Given the description of an element on the screen output the (x, y) to click on. 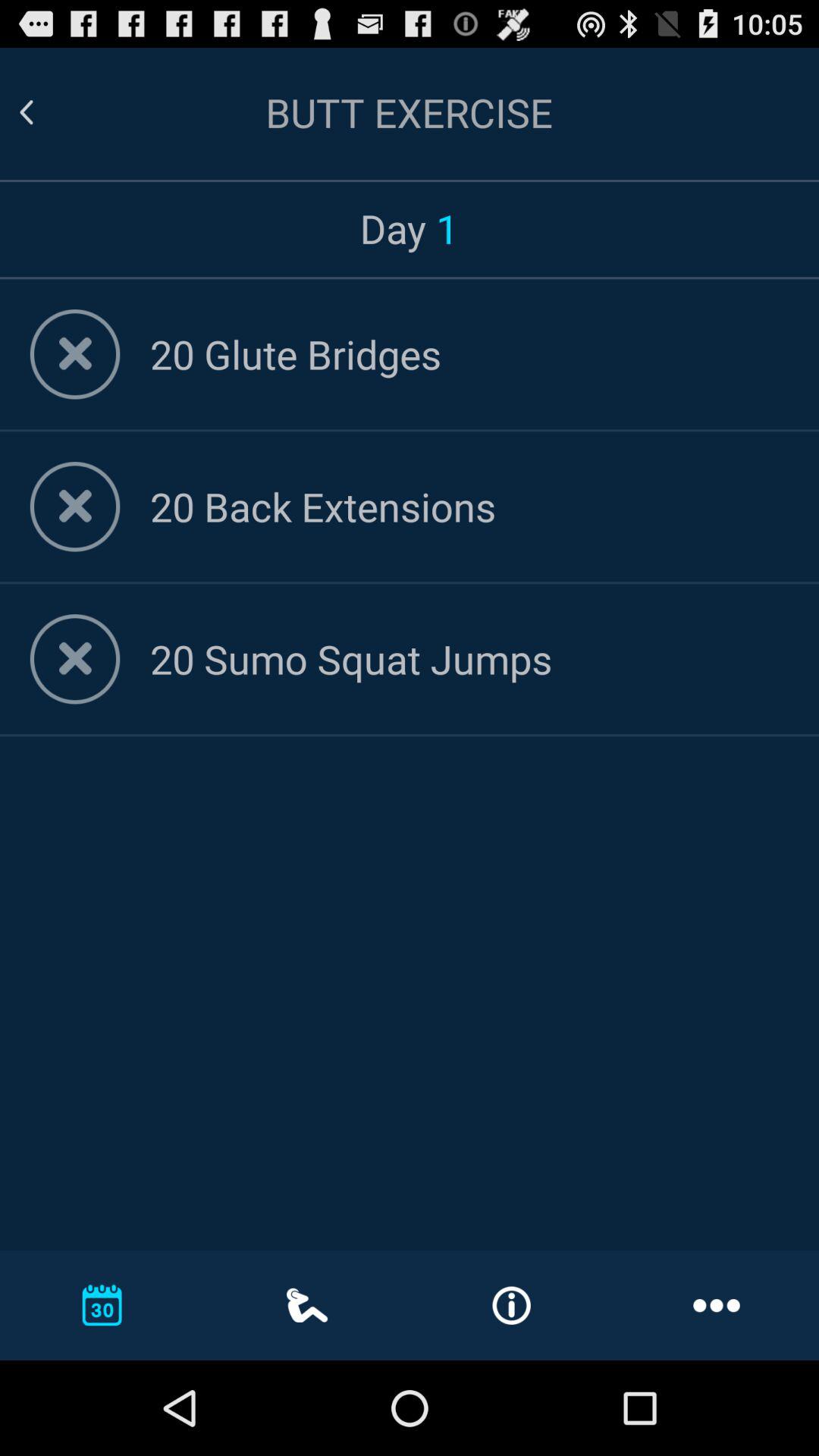
delete listing (75, 354)
